Given the description of an element on the screen output the (x, y) to click on. 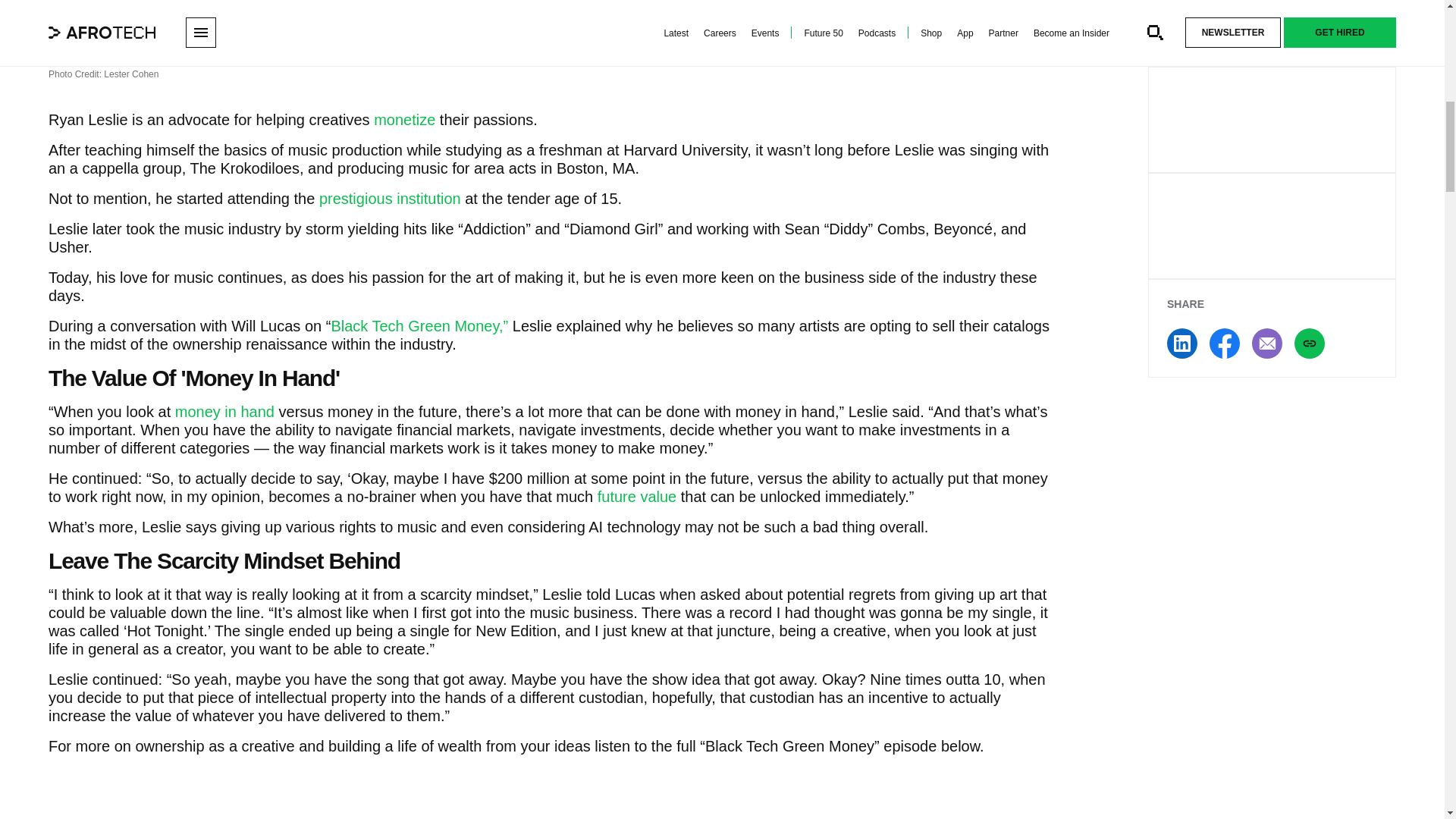
monetize (402, 119)
money in hand (224, 411)
prestigious institution (389, 198)
future value (636, 496)
